Given the description of an element on the screen output the (x, y) to click on. 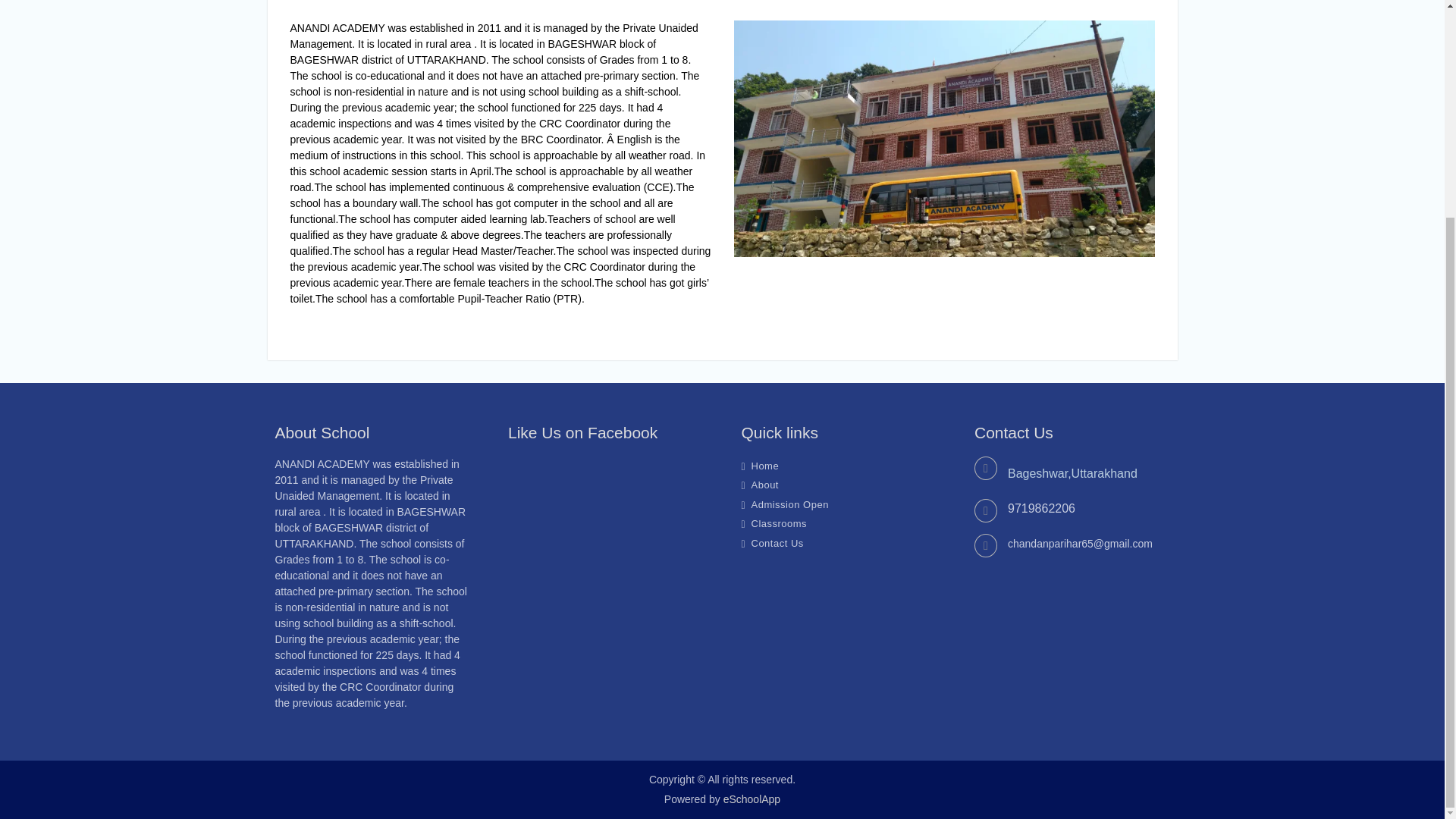
About (764, 484)
Classrooms (778, 523)
Home (764, 465)
Admission Open (789, 503)
